Given the description of an element on the screen output the (x, y) to click on. 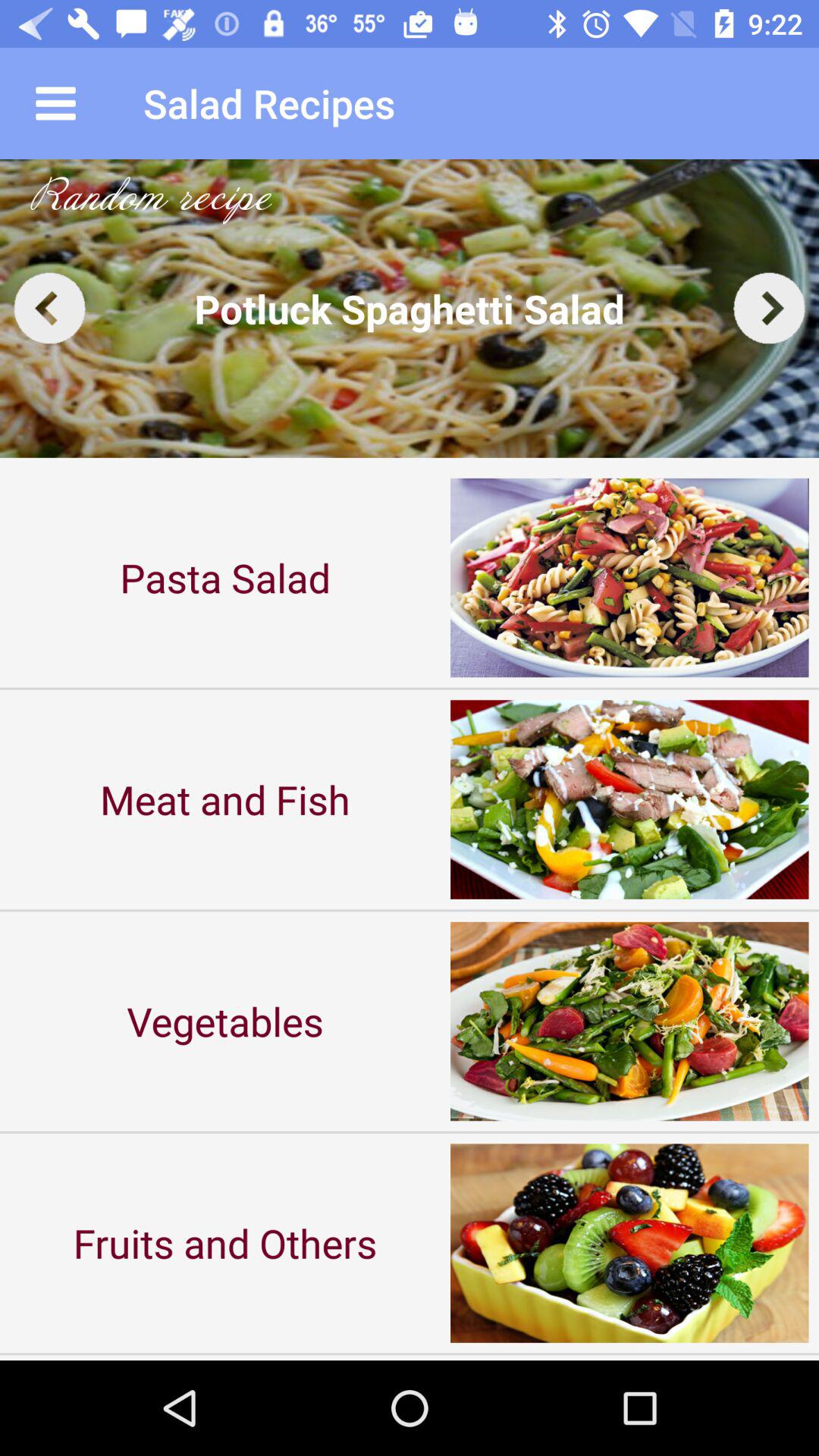
scroll until the pasta salad icon (225, 577)
